Given the description of an element on the screen output the (x, y) to click on. 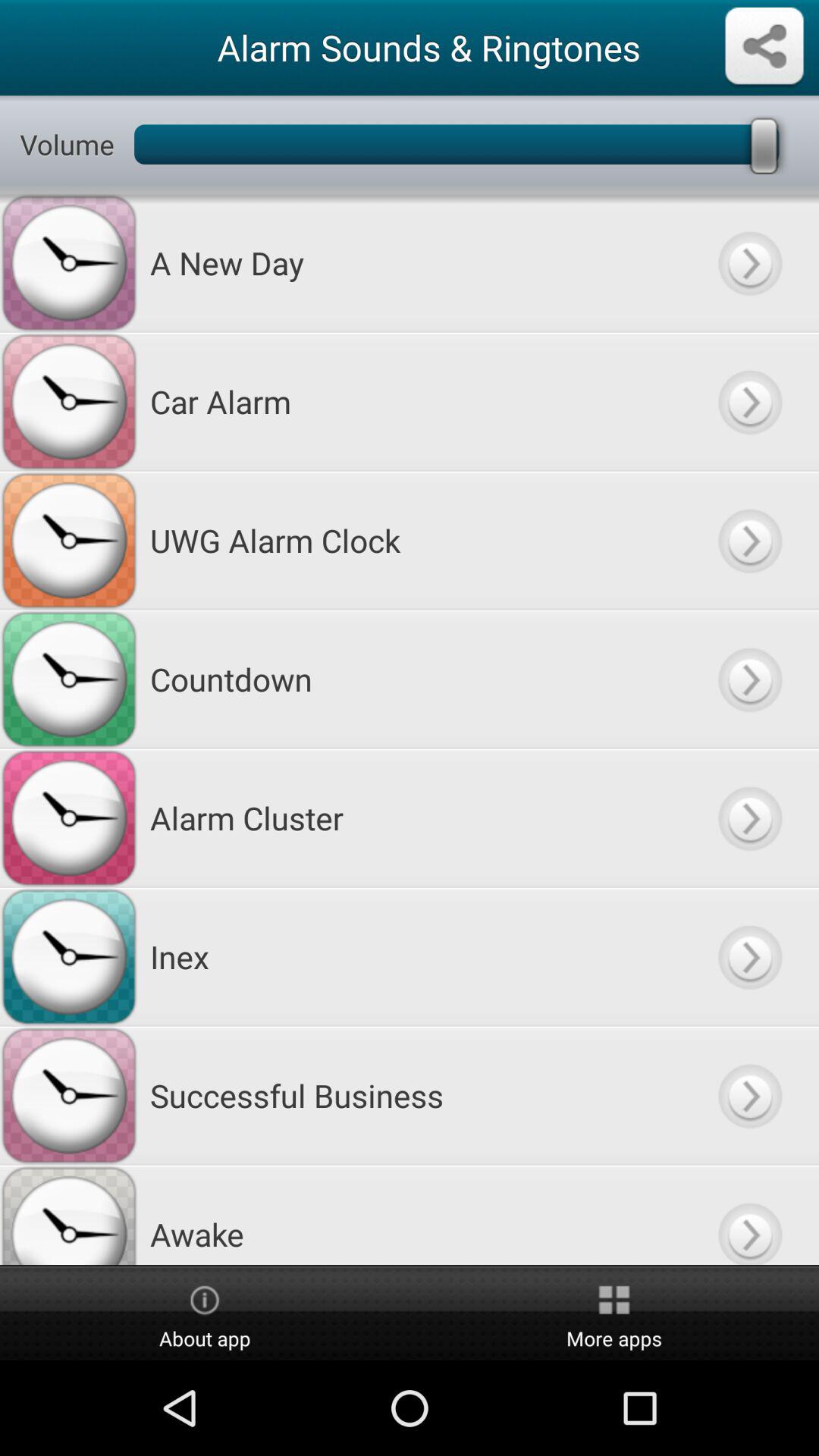
show more detail about alarm clock (749, 540)
